Given the description of an element on the screen output the (x, y) to click on. 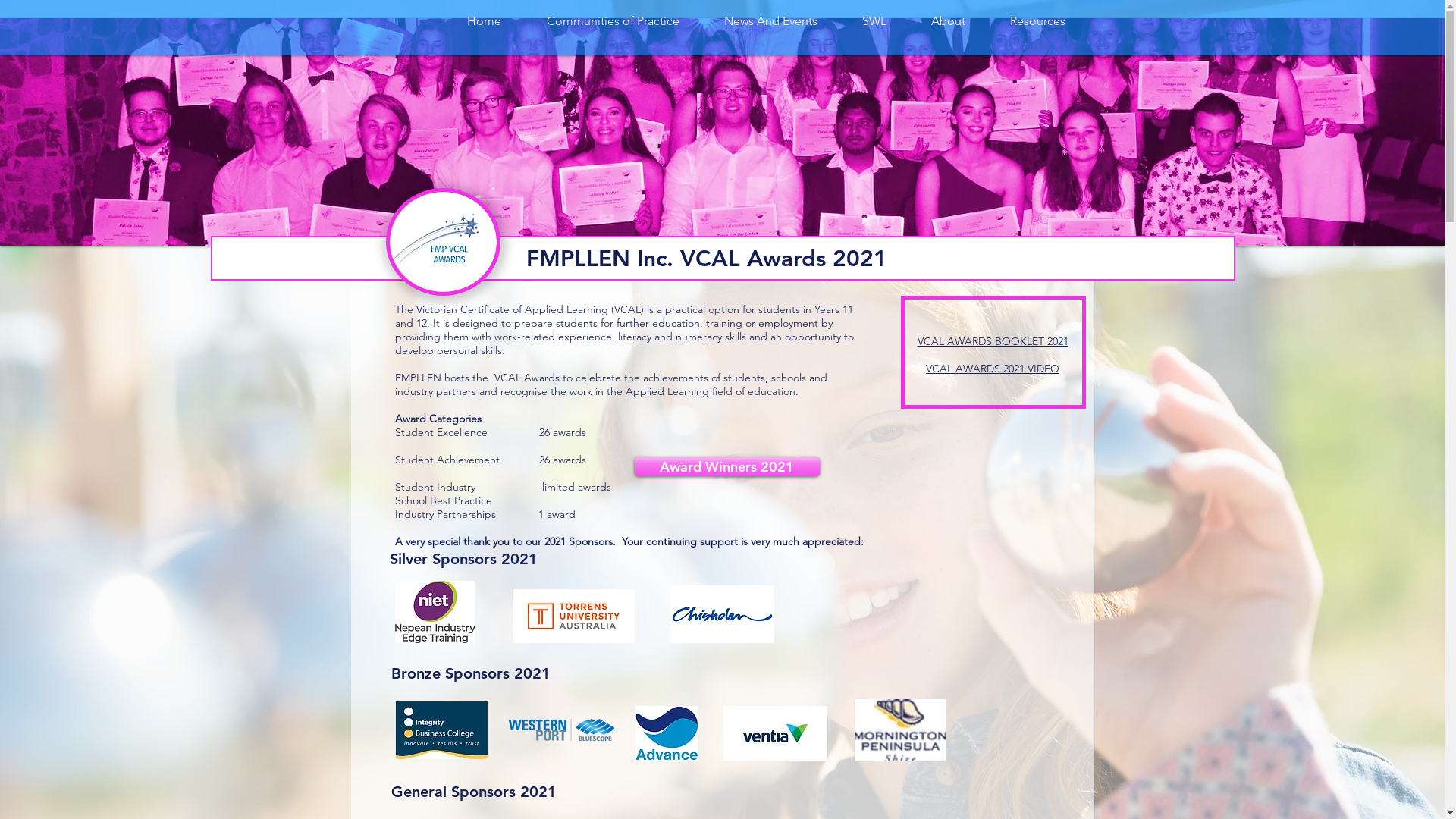
chisholm-institute-vector-logo.png Element type: hover (722, 614)
Intregrity logo.jpg Element type: hover (440, 730)
VCAL AWARDS 2021 VIDEO Element type: text (992, 368)
Torrens.jpg Element type: hover (573, 616)
SWL Element type: text (874, 20)
News And Events Element type: text (771, 20)
Communities of Practice Element type: text (612, 20)
Advance - Logo 2018 (CMYK) R2.jpg Element type: hover (666, 733)
Resources Element type: text (1037, 20)
VCAL AWARDS BOOKLET 2021 Element type: text (992, 341)
Home Element type: text (484, 20)
MPS logo.jpg Element type: hover (898, 730)
Award Winners 2021 Element type: text (726, 466)
About Element type: text (947, 20)
